Given the description of an element on the screen output the (x, y) to click on. 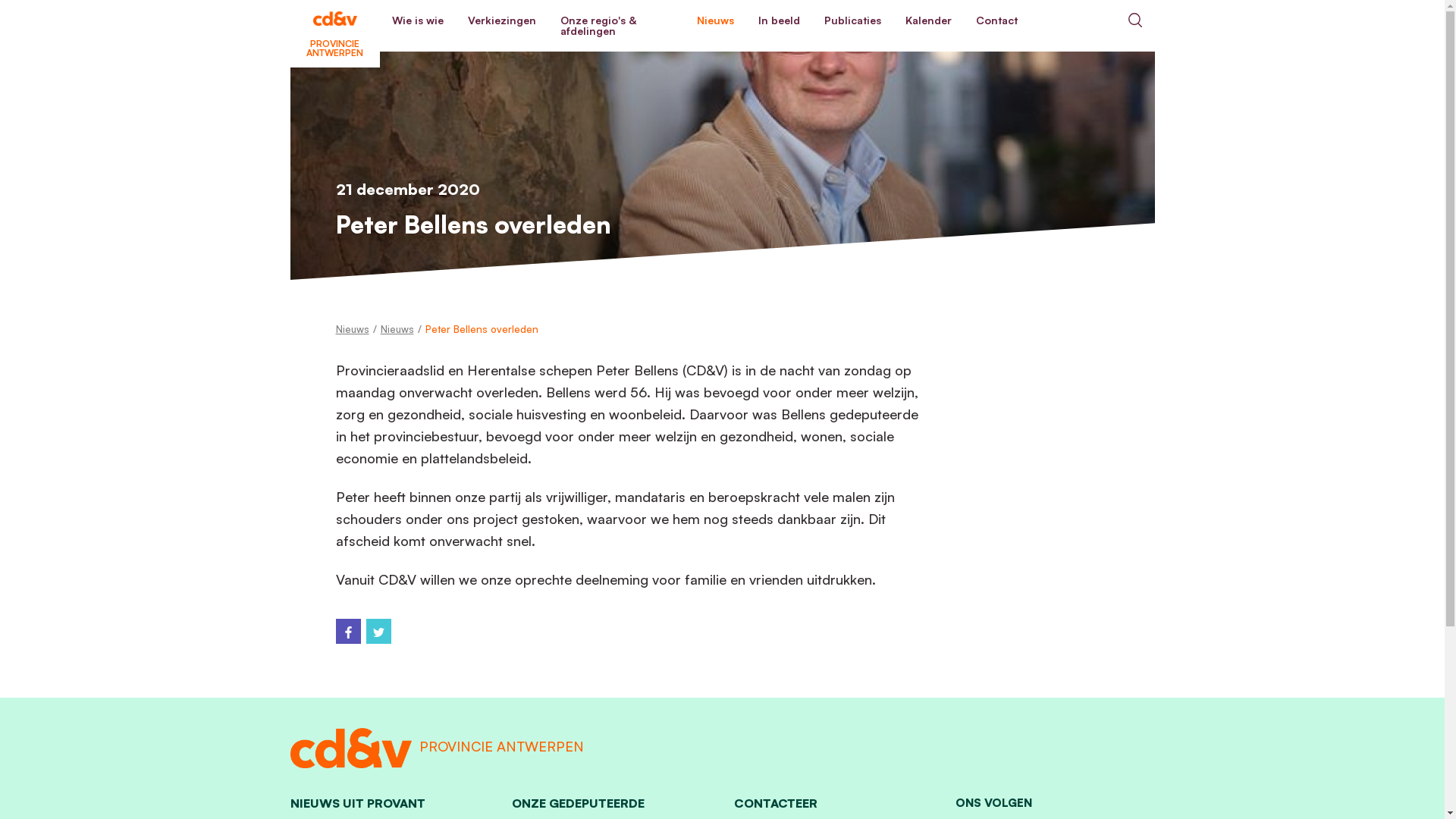
Facebook Element type: hover (347, 630)
Verkiezingen Element type: text (501, 20)
Nieuws Element type: text (397, 329)
Nieuws Element type: text (714, 20)
Wie is wie Element type: text (417, 20)
Nieuws Element type: text (351, 329)
Search Element type: hover (1134, 19)
Kalender Element type: text (928, 20)
Publicaties Element type: text (851, 20)
PROVINCIE ANTWERPEN Element type: text (334, 19)
Twitter Element type: hover (377, 630)
In beeld Element type: text (779, 20)
Onze regio's & afdelingen Element type: text (615, 25)
Contact Element type: text (996, 20)
